Given the description of an element on the screen output the (x, y) to click on. 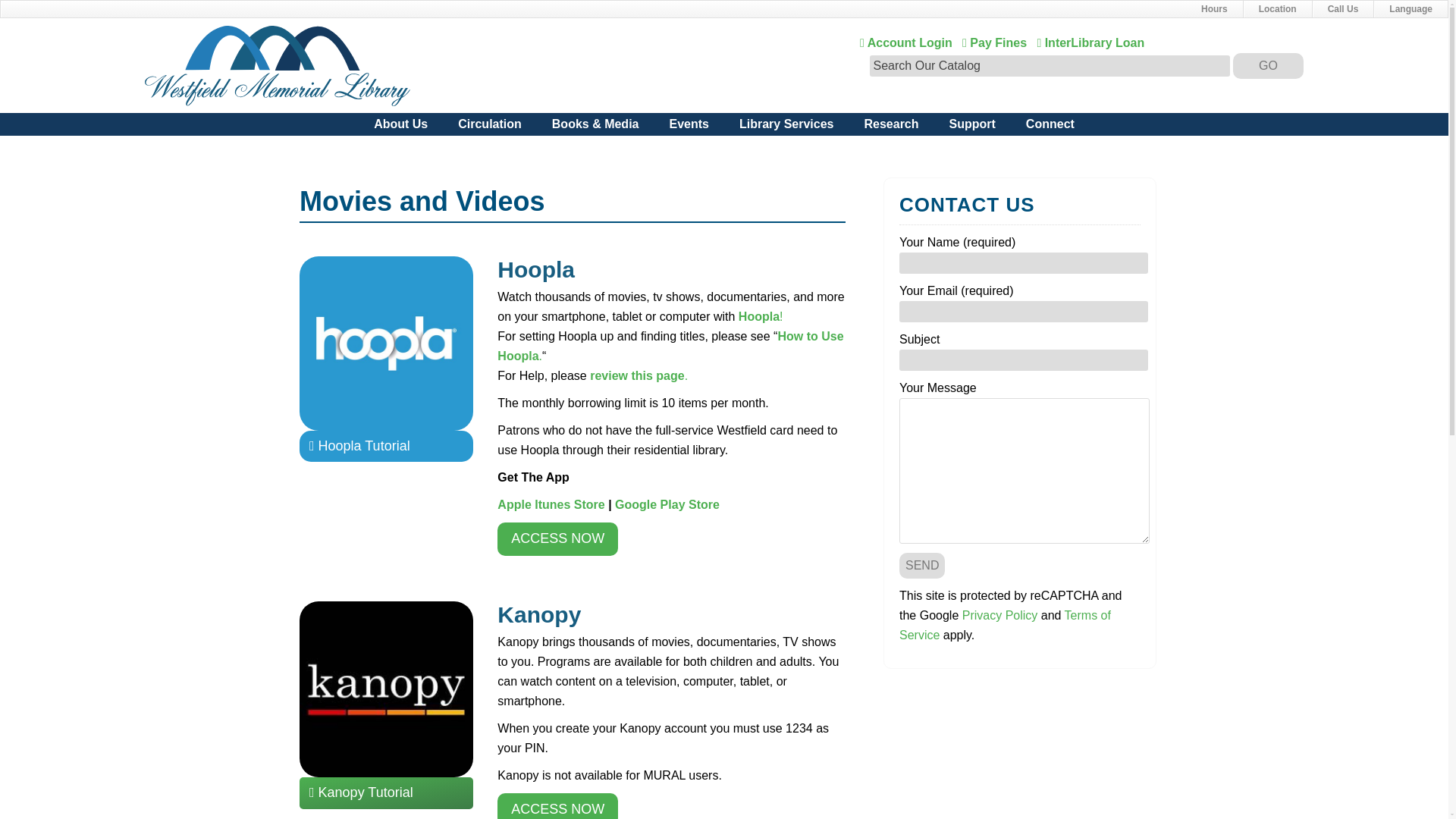
Kanopy Tutorial (386, 792)
Account Login (907, 42)
Hoopla Tutorial (386, 445)
Send (921, 565)
go (1268, 65)
WESTFIELD MEMORIAL LIBRARY (277, 66)
go (724, 9)
Pay Fines (1268, 65)
Location (994, 42)
InterLibrary Loan (1277, 8)
